Given the description of an element on the screen output the (x, y) to click on. 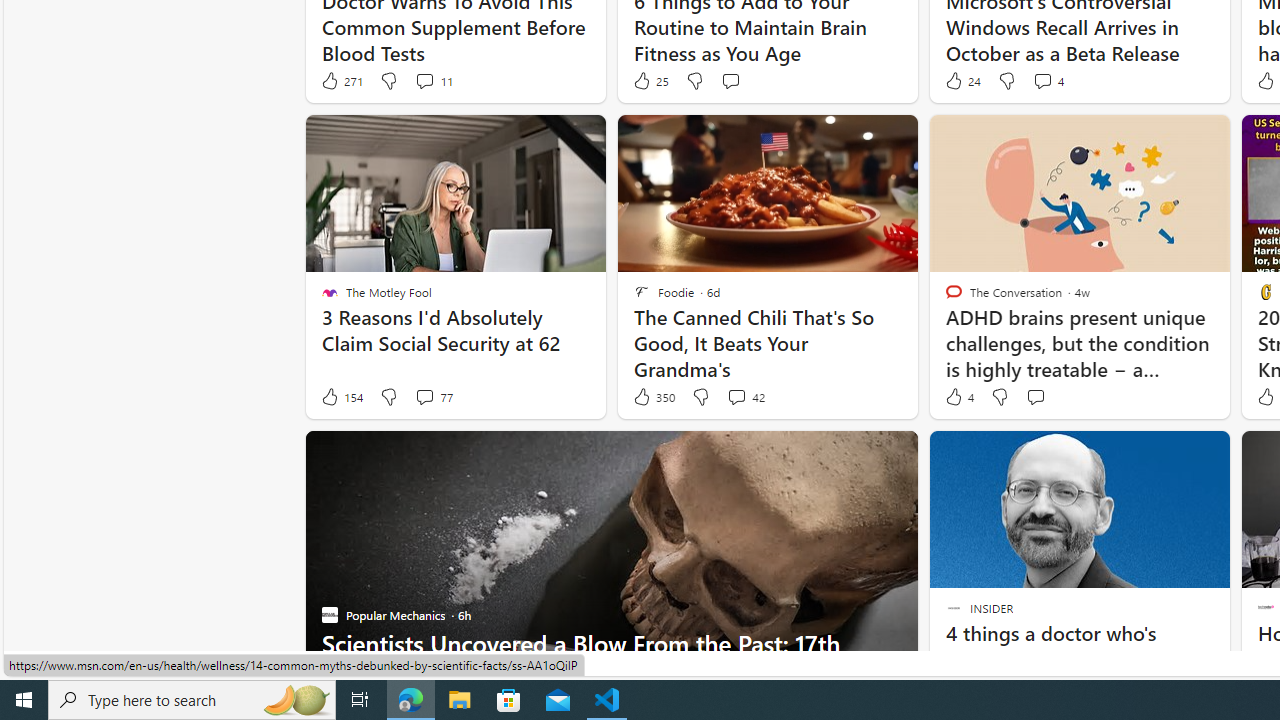
View comments 11 Comment (424, 80)
Hide this story (1169, 454)
4 Like (957, 397)
View comments 11 Comment (432, 80)
View comments 42 Comment (745, 397)
154 Like (341, 397)
View comments 42 Comment (736, 396)
350 Like (653, 397)
271 Like (341, 80)
View comments 77 Comment (432, 397)
View comments 4 Comment (1048, 80)
View comments 77 Comment (424, 396)
25 Like (650, 80)
